Given the description of an element on the screen output the (x, y) to click on. 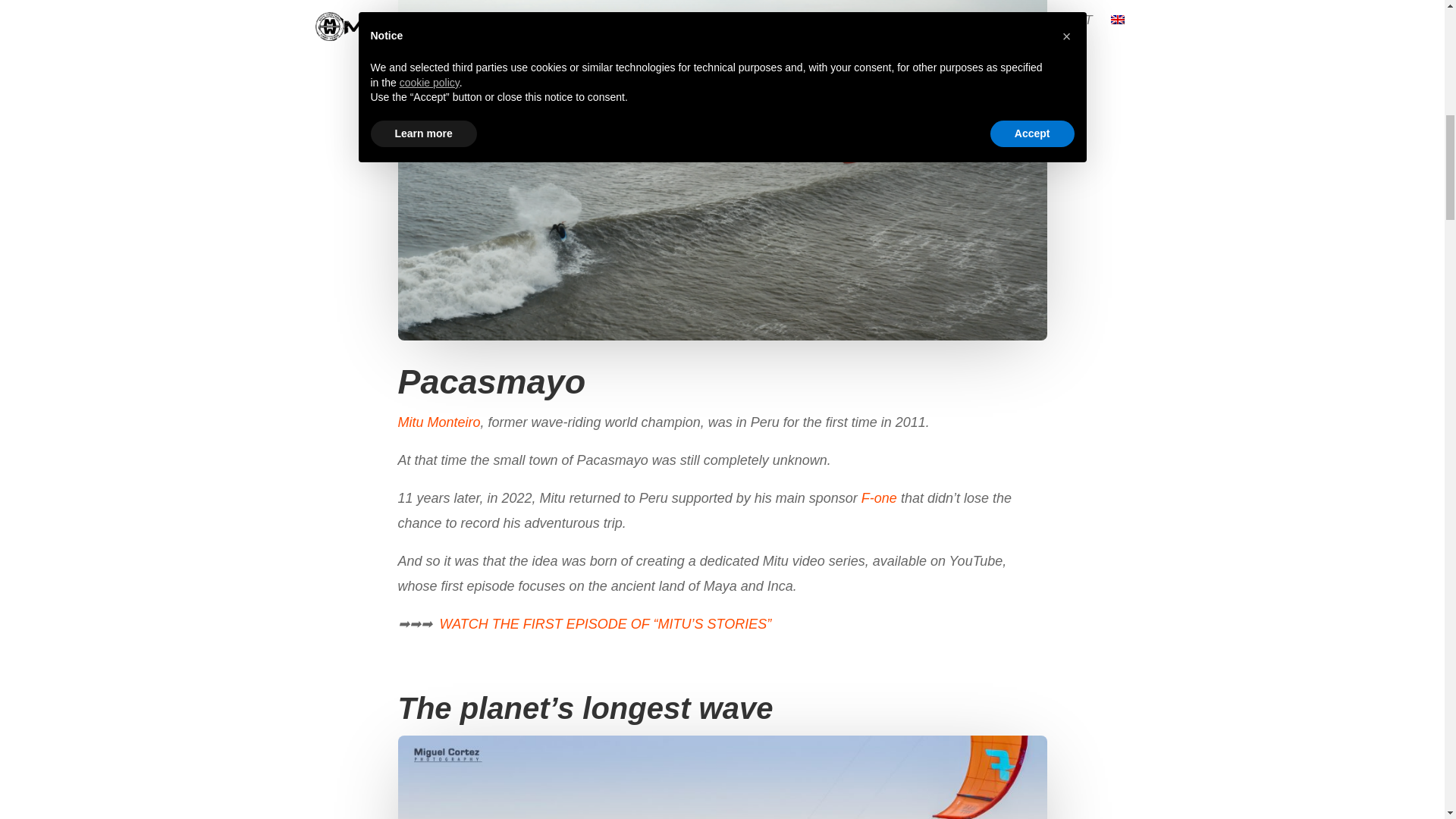
F-one (878, 498)
Mitu Monteiro (438, 421)
